Given the description of an element on the screen output the (x, y) to click on. 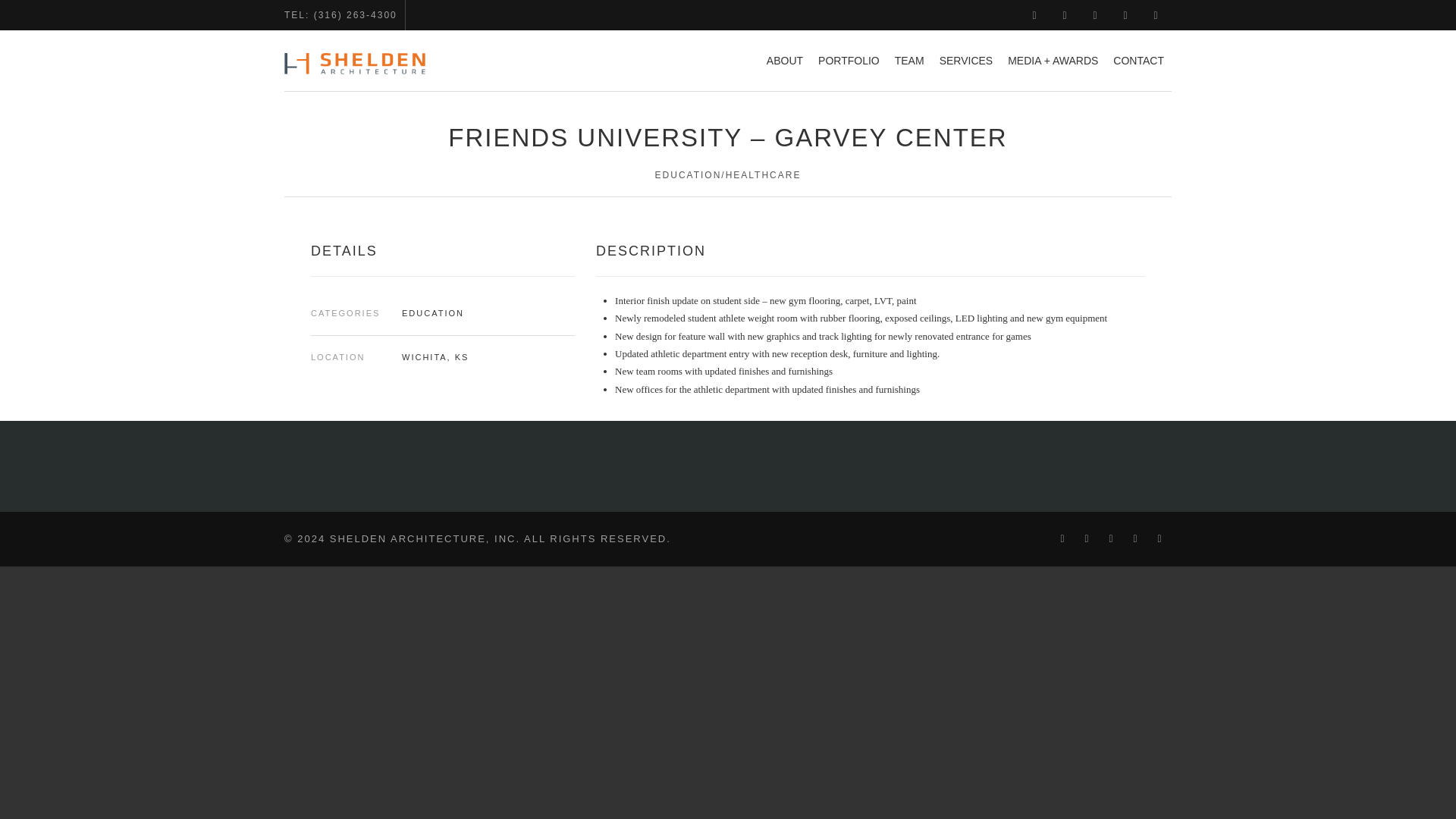
SERVICES (966, 60)
Facebook (1034, 15)
YouTube (1125, 15)
PORTFOLIO (848, 60)
CONTACT (1138, 60)
Twitter (1064, 15)
Instagram (1156, 15)
LinkedIn (1095, 15)
